Given the description of an element on the screen output the (x, y) to click on. 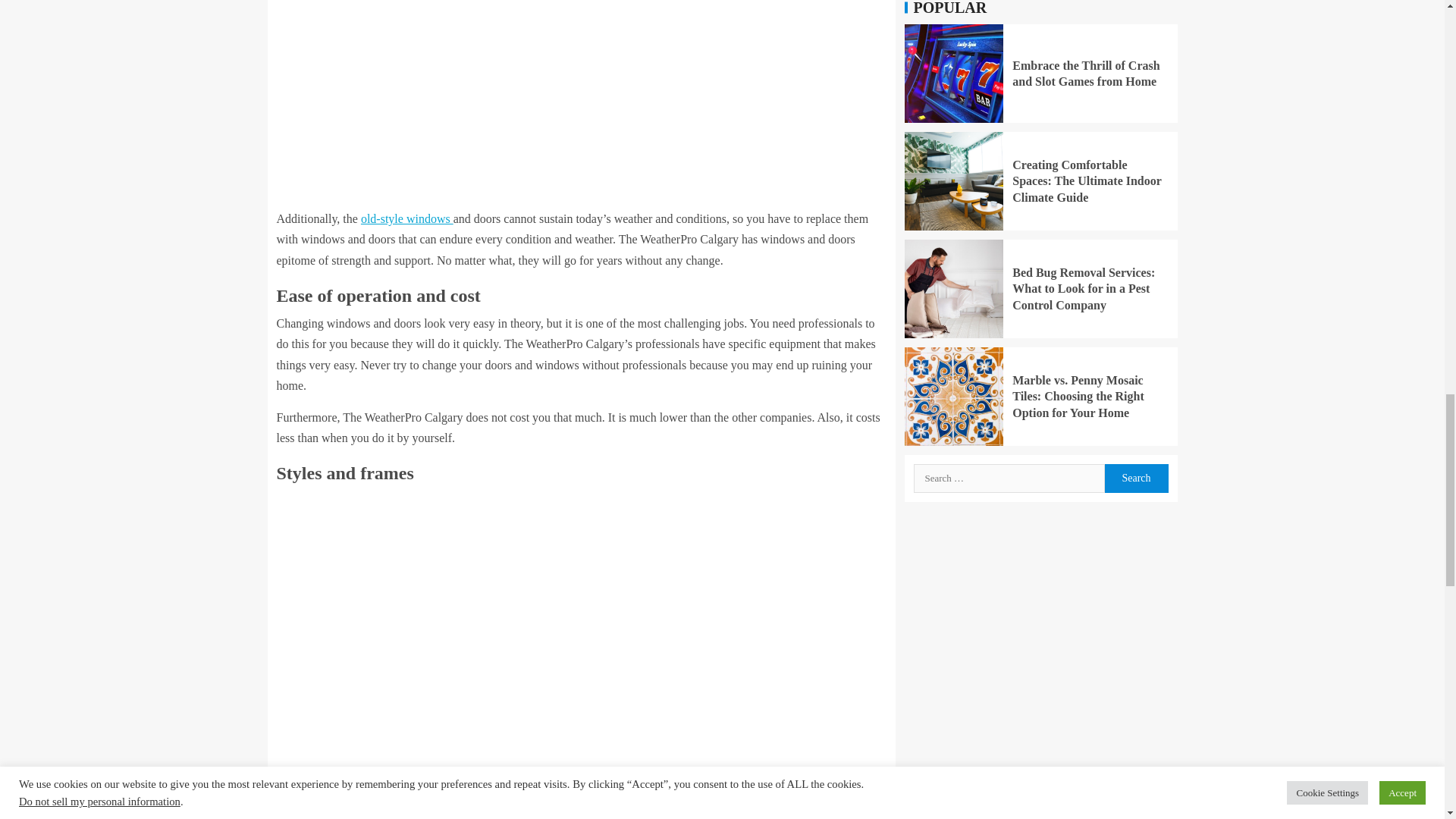
old-style windows (406, 218)
